Given the description of an element on the screen output the (x, y) to click on. 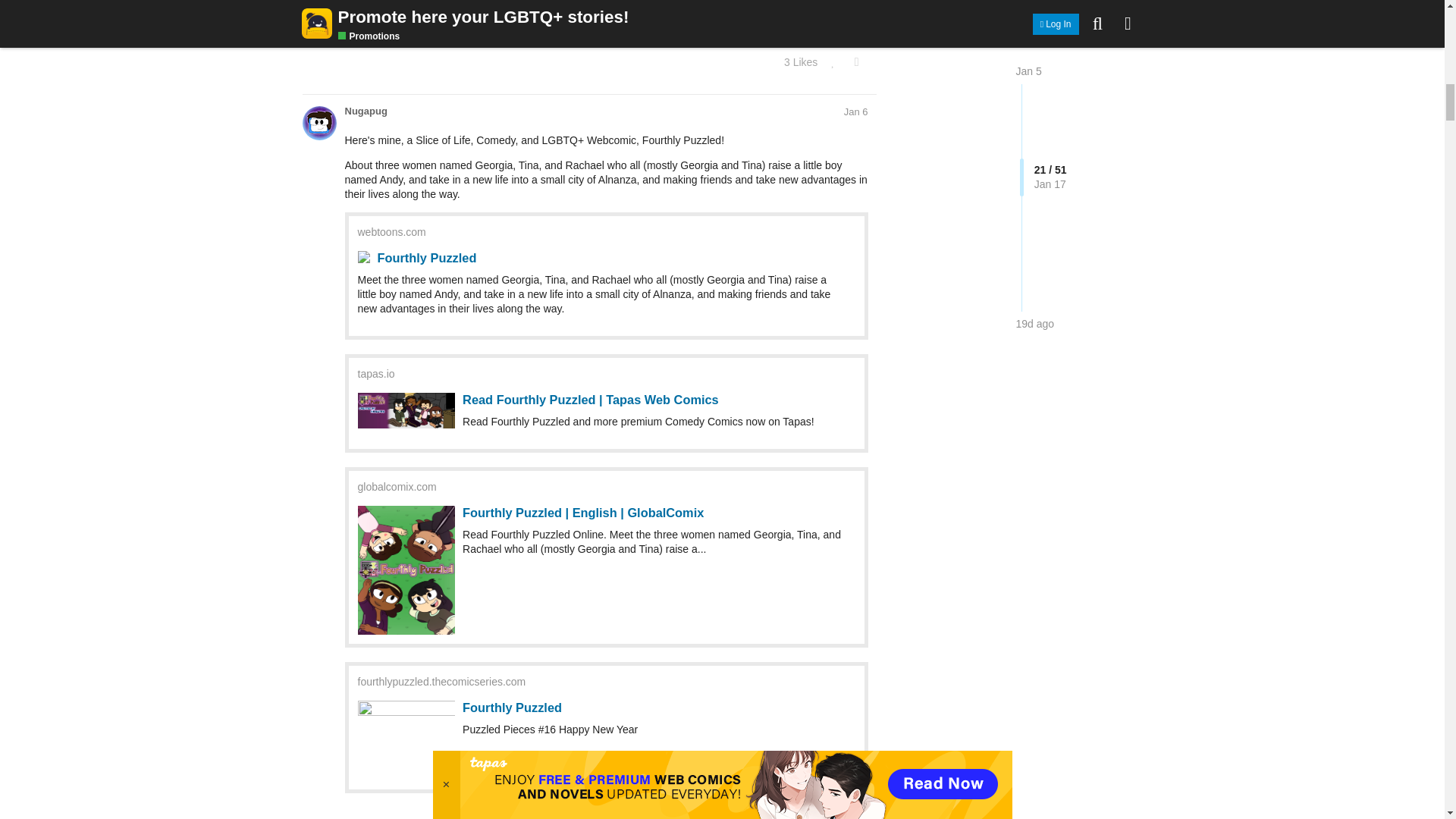
Our Universe (514, 166)
Secunda. (929, 127)
Please read more about how it works and who to contact here! (626, 32)
Heavy Horns, (851, 127)
My Demon Valentine. (619, 166)
Demon House, (778, 127)
Queen of Gods. (997, 216)
